Given the description of an element on the screen output the (x, y) to click on. 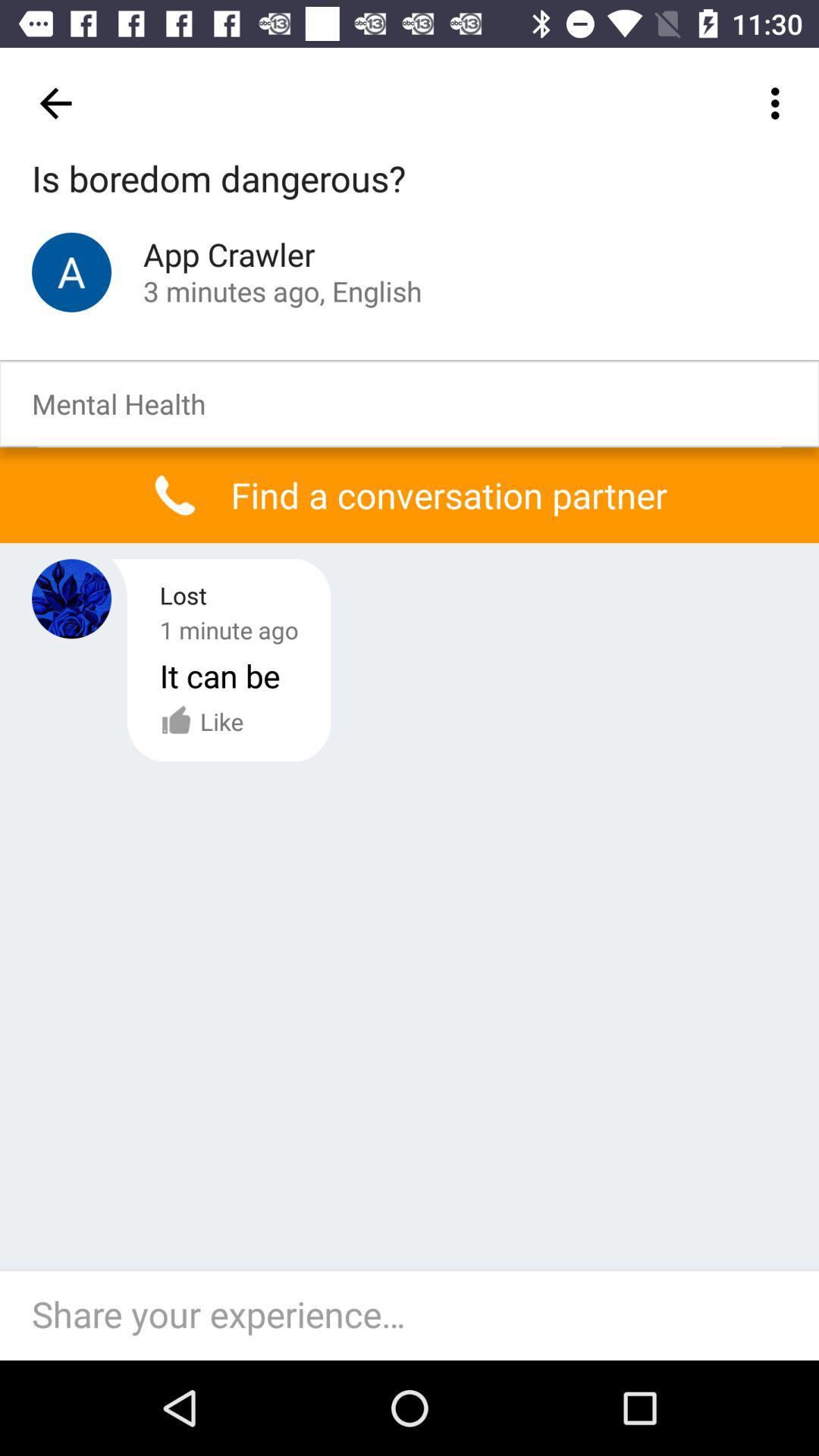
contact icon (71, 272)
